Given the description of an element on the screen output the (x, y) to click on. 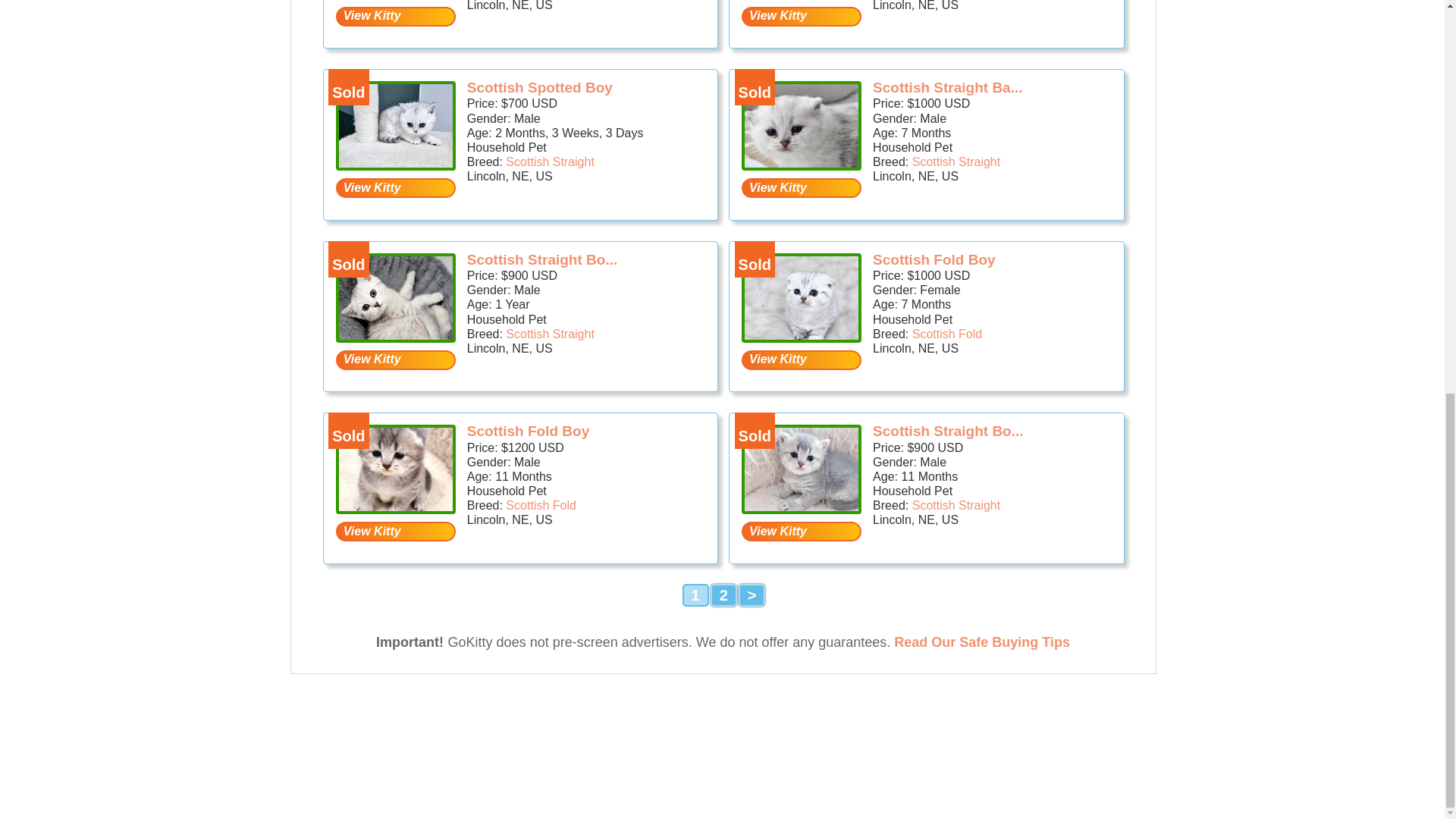
View Kitty (395, 188)
View Kitty (801, 360)
View Kitty (801, 188)
View Kitty (801, 16)
View Kitty (801, 531)
